Given the description of an element on the screen output the (x, y) to click on. 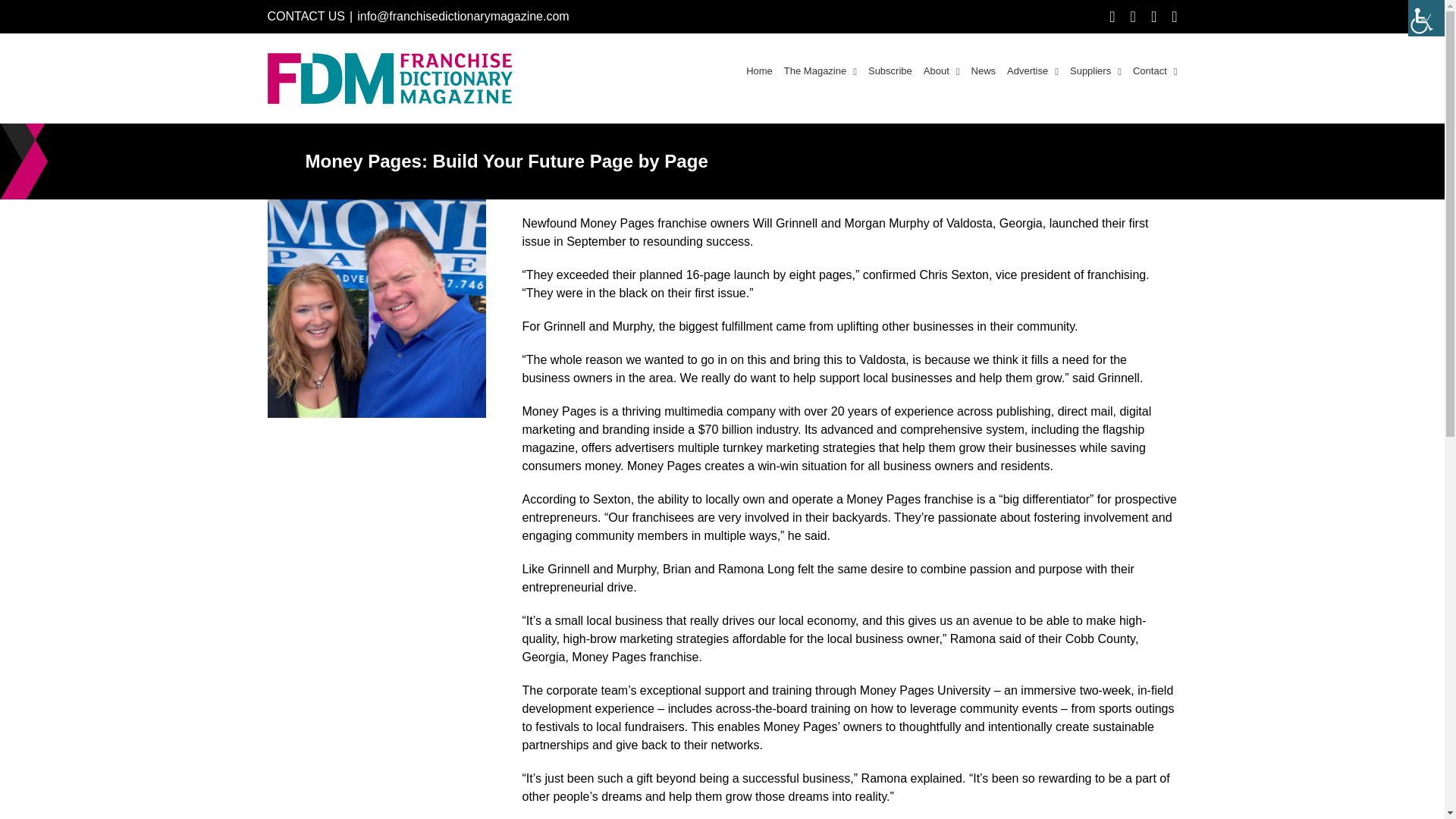
The Magazine (820, 69)
